Given the description of an element on the screen output the (x, y) to click on. 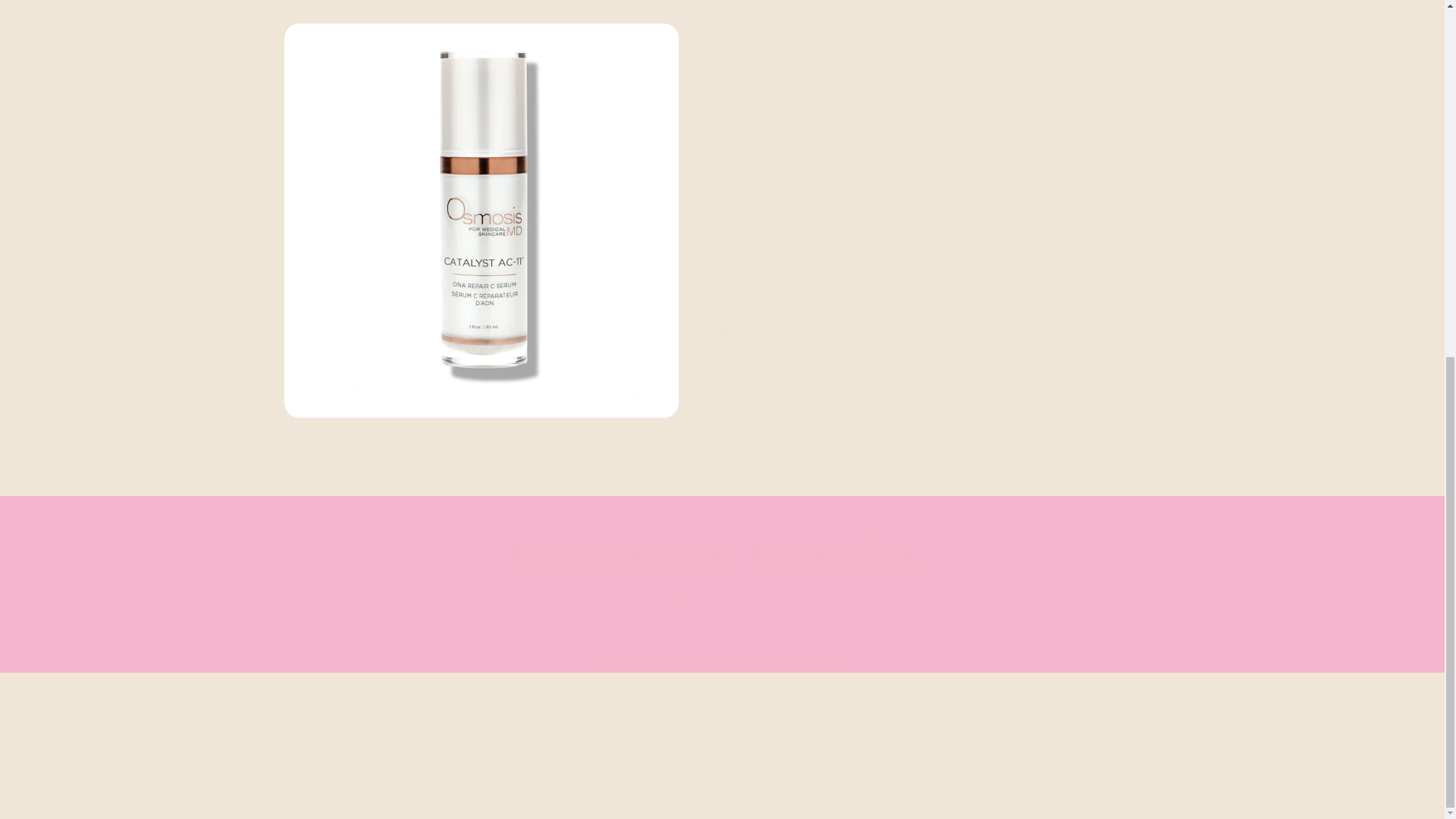
I promise not to spam you! (722, 602)
Don't miss out! Join the list.. (722, 554)
Email (722, 648)
